Given the description of an element on the screen output the (x, y) to click on. 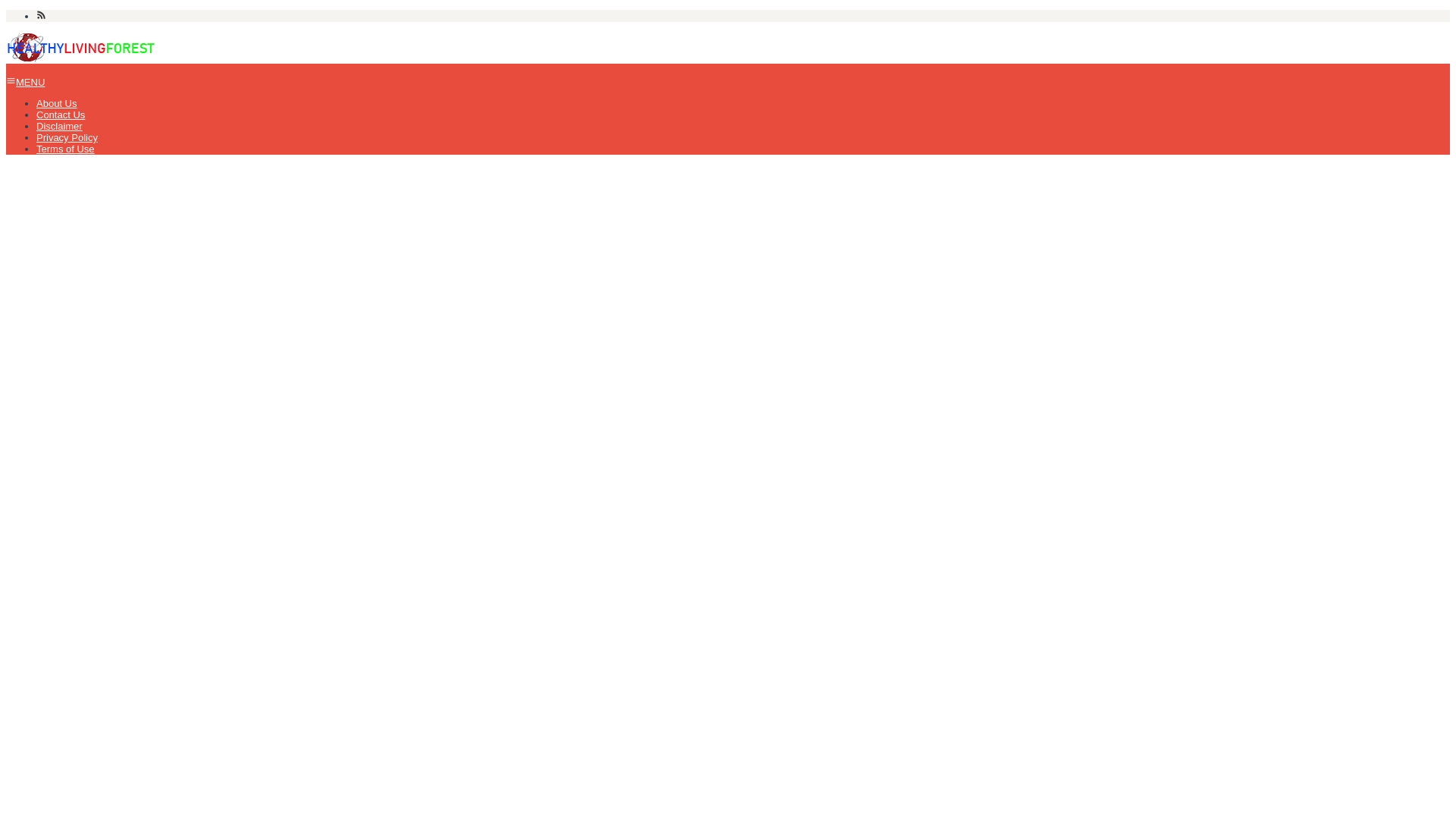
Disclaimer (59, 125)
Contact Us (60, 114)
About Us (56, 102)
MENU (25, 81)
Privacy Policy (66, 137)
Professional Template Ideas (81, 57)
Professional Template Ideas (81, 47)
